Given the description of an element on the screen output the (x, y) to click on. 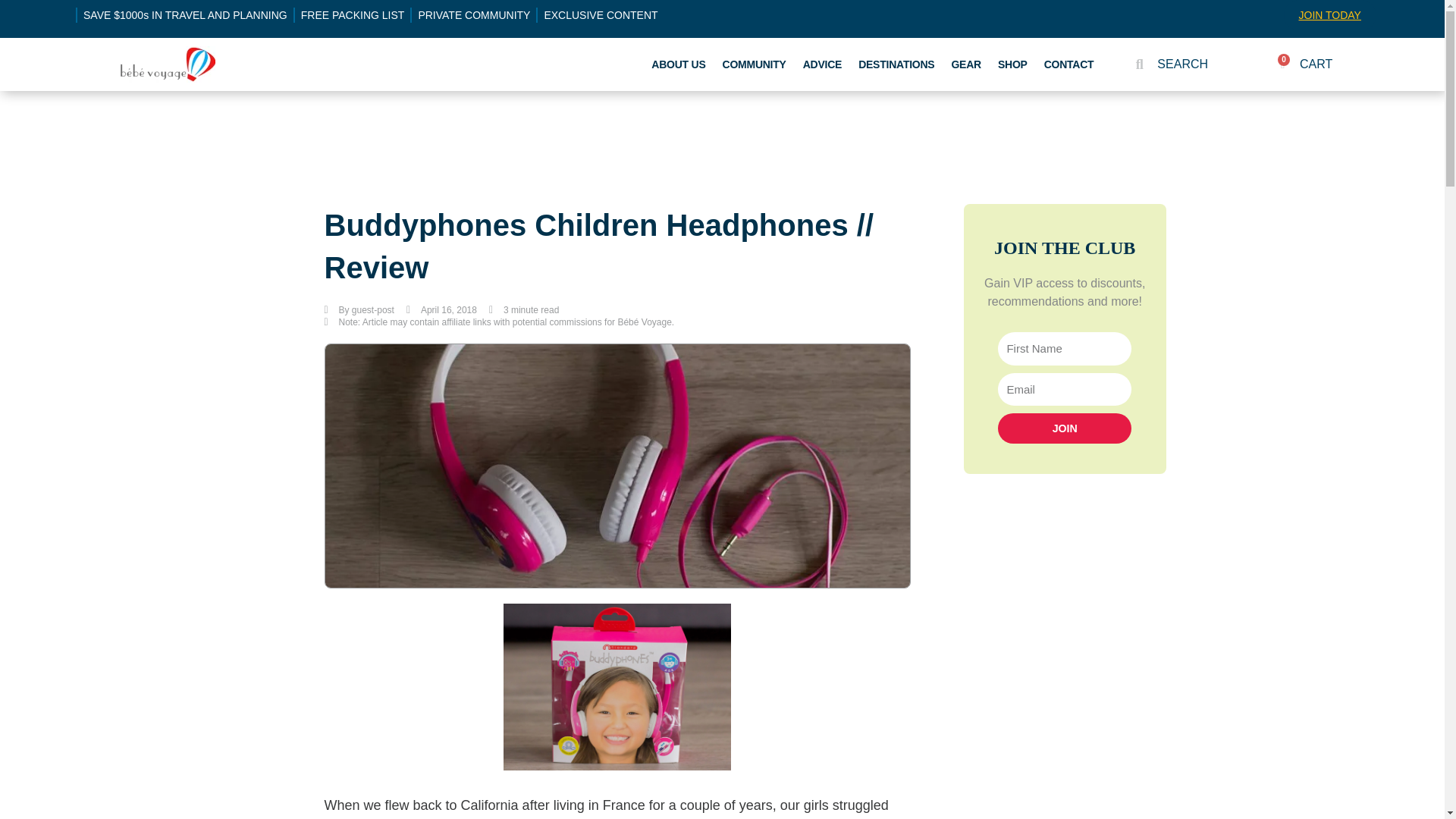
cropped-bebe-voyage-logo.png (167, 63)
JOIN TODAY (1328, 15)
